Given the description of an element on the screen output the (x, y) to click on. 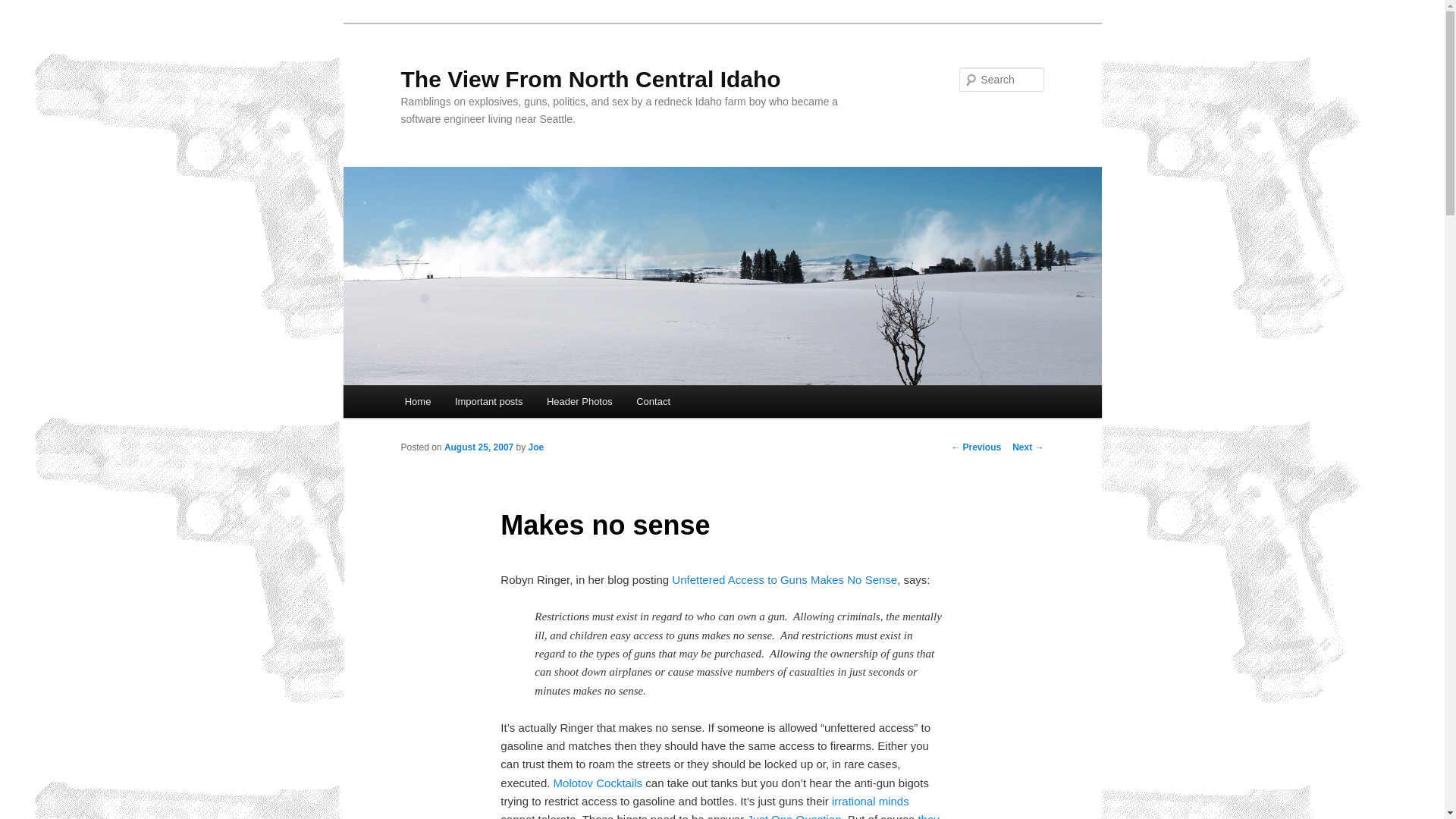
Molotov Cocktails (598, 782)
Just One Question (793, 816)
Important posts (488, 400)
irrational minds (869, 800)
August 25, 2007 (478, 447)
View all posts by Joe (536, 447)
10:08 am (478, 447)
Header Photos (579, 400)
Contact (652, 400)
Search (24, 8)
The View From North Central Idaho (590, 78)
Joe (536, 447)
Home (417, 400)
Unfettered Access to Guns Makes No Sense (783, 579)
